Given the description of an element on the screen output the (x, y) to click on. 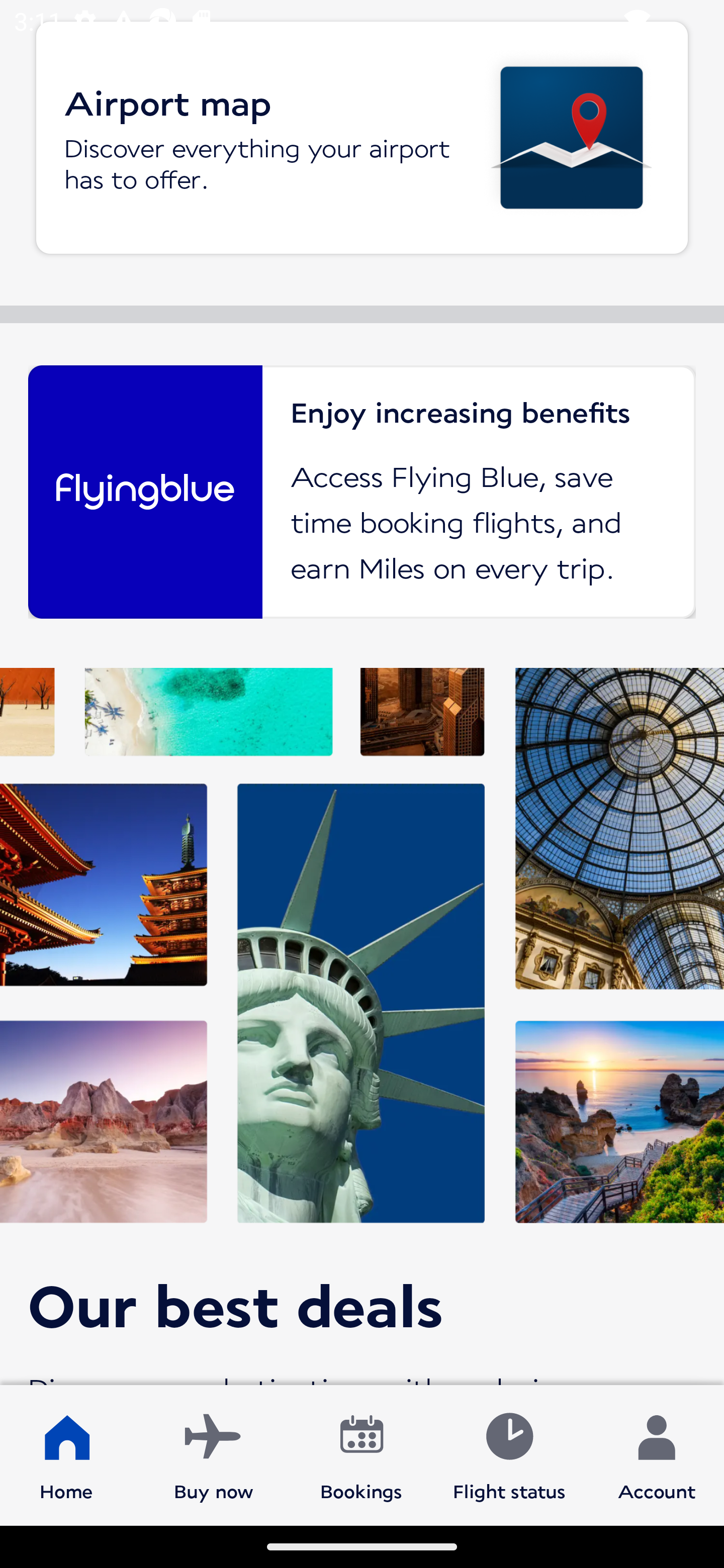
Buy now (213, 1454)
Bookings (361, 1454)
Flight status (509, 1454)
Account (657, 1454)
